Given the description of an element on the screen output the (x, y) to click on. 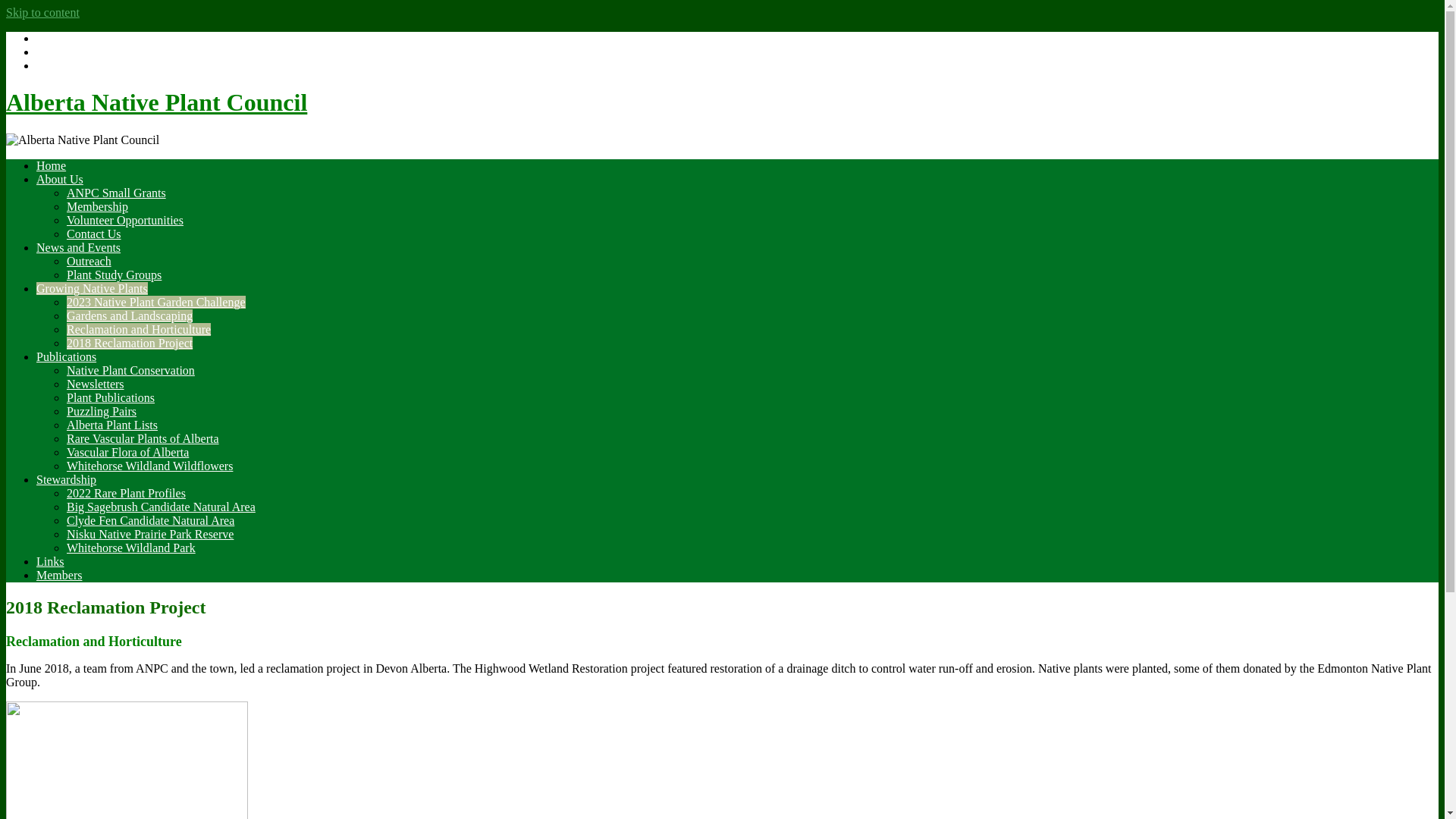
Clyde Fen Candidate Natural Area Element type: text (150, 520)
Nisku Native Prairie Park Reserve Element type: text (149, 533)
Alberta Native Plant Council Element type: text (156, 102)
Publications Element type: text (66, 356)
Membership Element type: text (97, 206)
Rare Vascular Plants of Alberta Element type: text (142, 438)
ANPC Small Grants Element type: text (116, 192)
Links Element type: text (49, 561)
Whitehorse Wildland Wildflowers Element type: text (149, 465)
Growing Native Plants Element type: text (91, 288)
Vascular Flora of Alberta Element type: text (127, 451)
Outreach Element type: text (88, 260)
Members Element type: text (58, 574)
Stewardship Element type: text (66, 479)
Contact Us Element type: text (93, 233)
Skip to content Element type: text (42, 12)
Newsletters Element type: text (95, 383)
2023 Native Plant Garden Challenge Element type: text (155, 301)
Reclamation and Horticulture Element type: text (138, 329)
Plant Publications Element type: text (110, 397)
2018 Reclamation Project Element type: text (129, 342)
Gardens and Landscaping Element type: text (129, 315)
Alberta Plant Lists Element type: text (111, 424)
Puzzling Pairs Element type: text (101, 410)
Volunteer Opportunities Element type: text (124, 219)
Home Element type: text (50, 165)
Native Plant Conservation Element type: text (130, 370)
Whitehorse Wildland Park Element type: text (130, 547)
Plant Study Groups Element type: text (113, 274)
News and Events Element type: text (78, 247)
2022 Rare Plant Profiles Element type: text (125, 492)
Big Sagebrush Candidate Natural Area Element type: text (160, 506)
About Us Element type: text (59, 178)
